Given the description of an element on the screen output the (x, y) to click on. 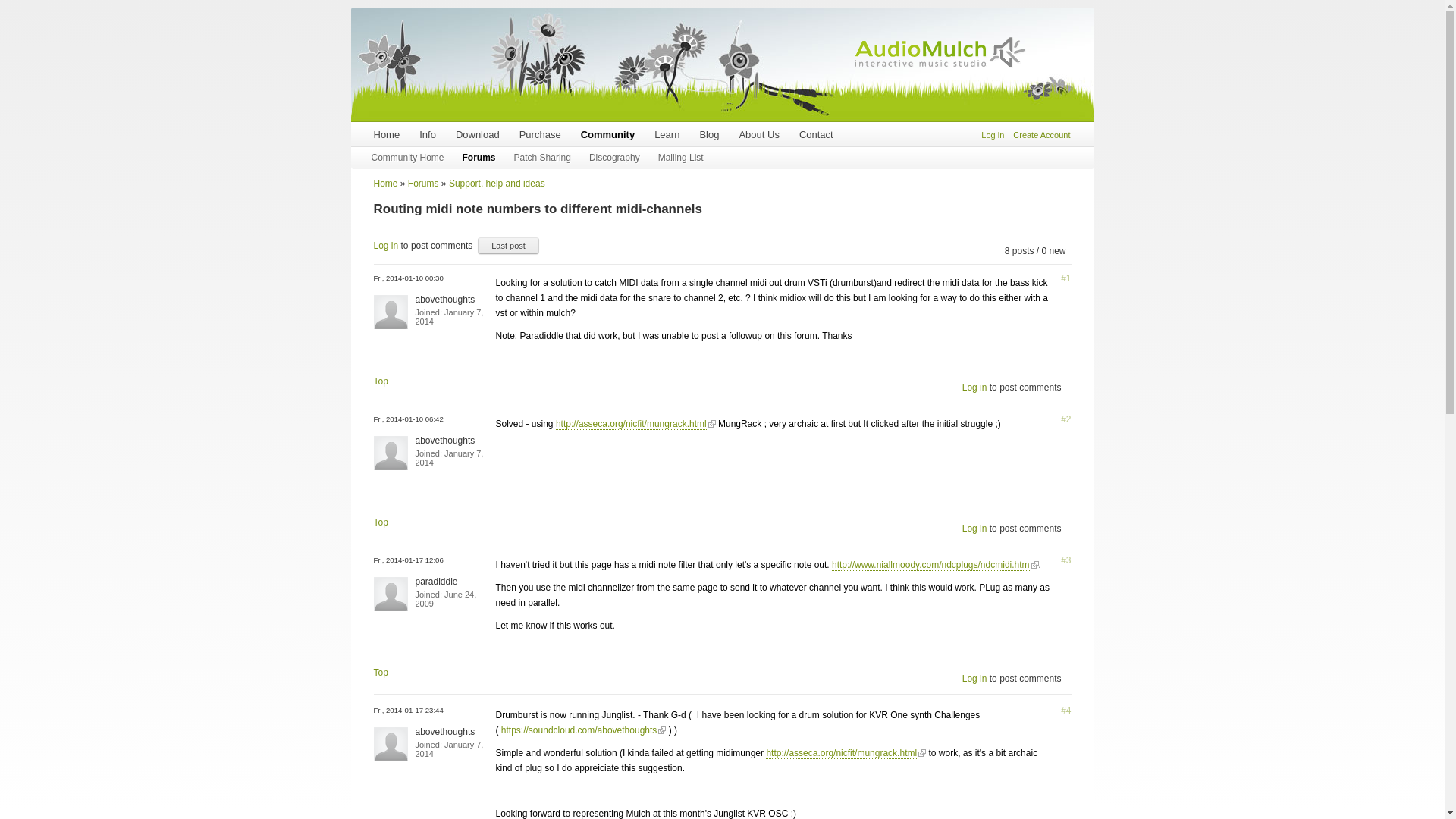
Contact (816, 134)
Last post (507, 245)
abovethoughts's picture (389, 452)
Jump to top of page (379, 380)
Download (477, 134)
abovethoughts's picture (389, 744)
Learn (666, 134)
Blog (708, 134)
abovethoughts's picture (389, 311)
Mailing List (681, 157)
Log in (992, 134)
Top (379, 380)
Info (427, 134)
Forums (423, 183)
AudioMulch Home (939, 52)
